Given the description of an element on the screen output the (x, y) to click on. 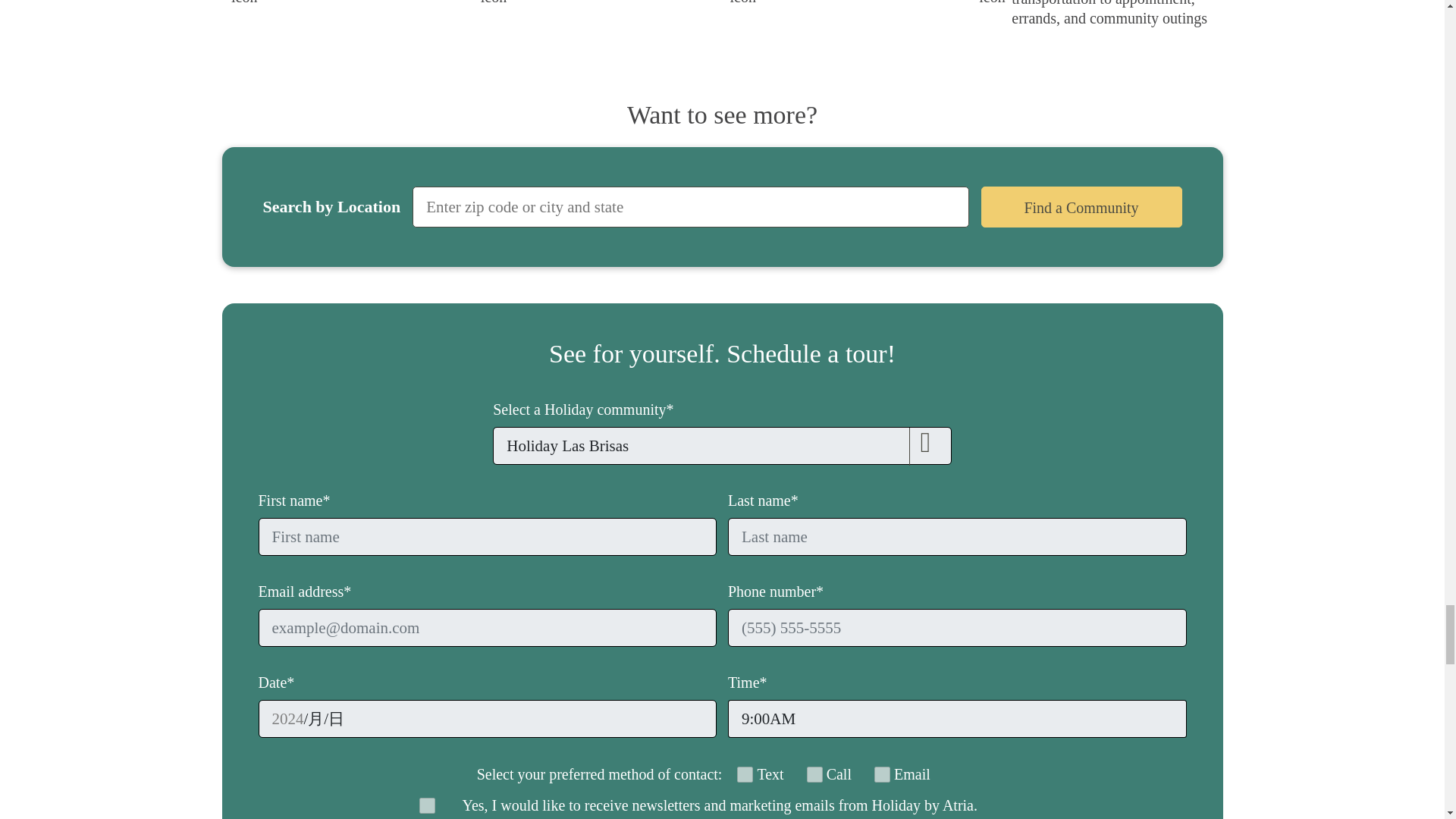
on (426, 805)
email (882, 774)
text (744, 774)
call (814, 774)
